Given the description of an element on the screen output the (x, y) to click on. 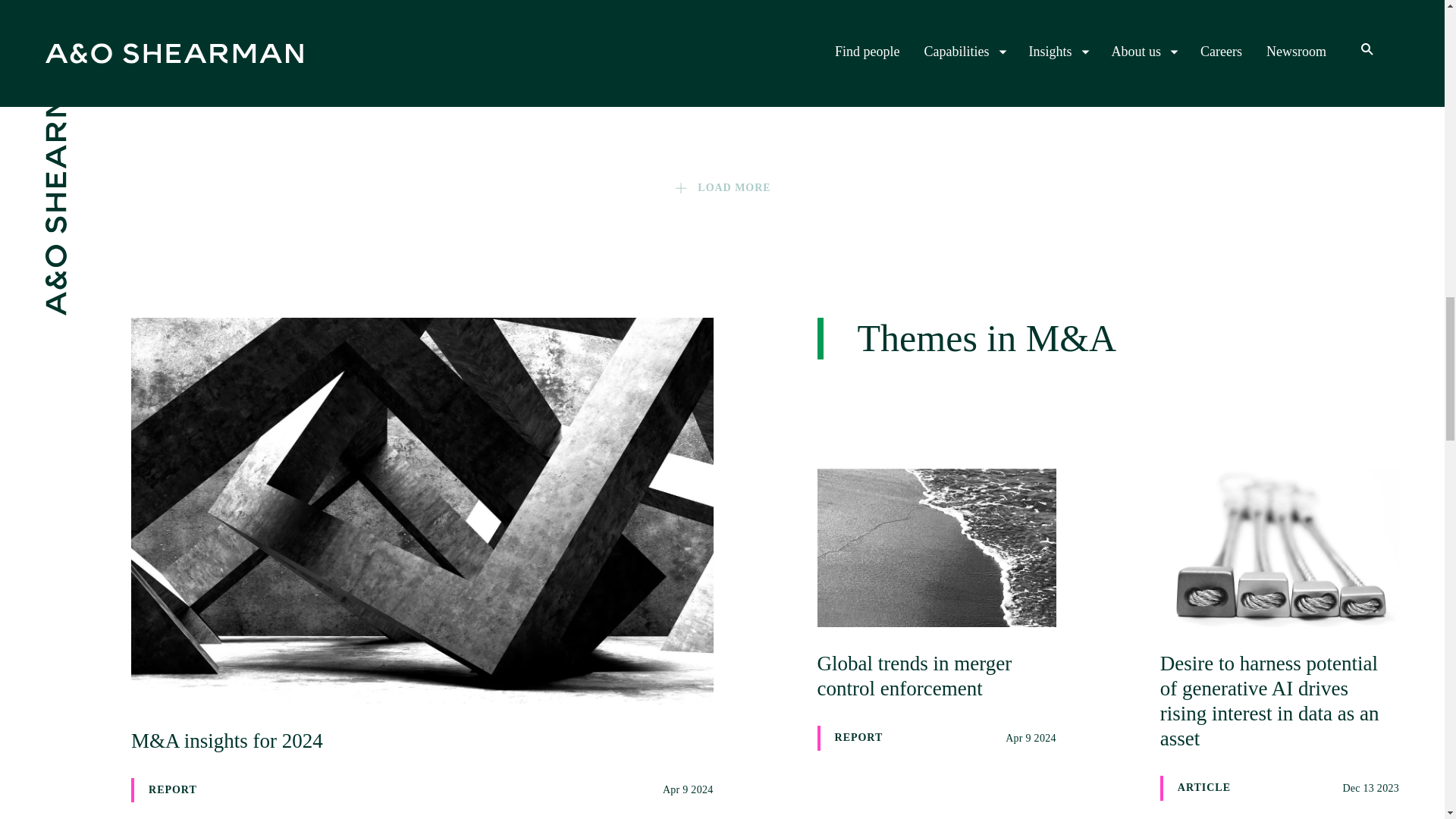
LOAD MORE (293, 34)
